Given the description of an element on the screen output the (x, y) to click on. 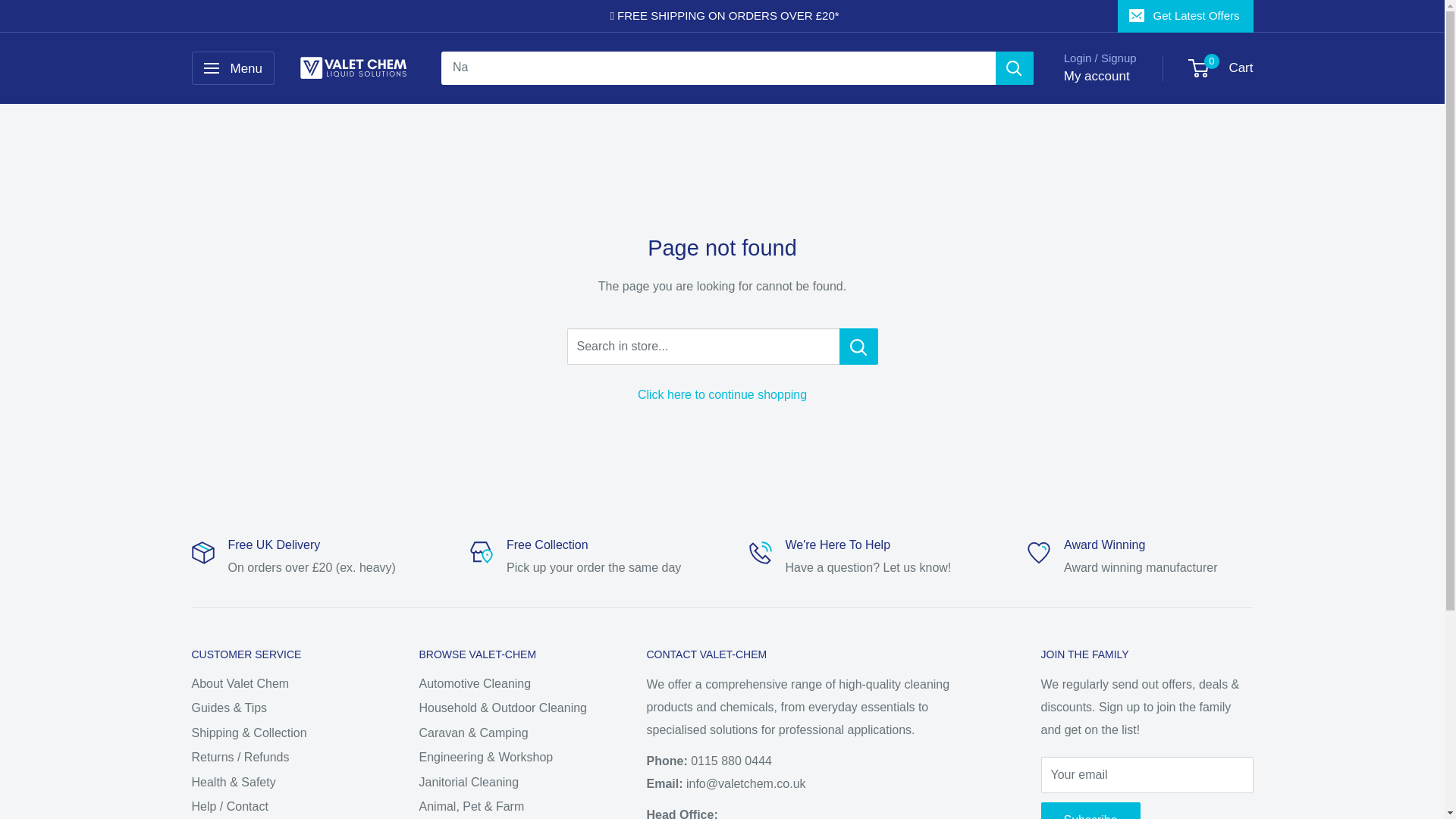
Menu (232, 68)
Get Latest Offers (1185, 15)
